Given the description of an element on the screen output the (x, y) to click on. 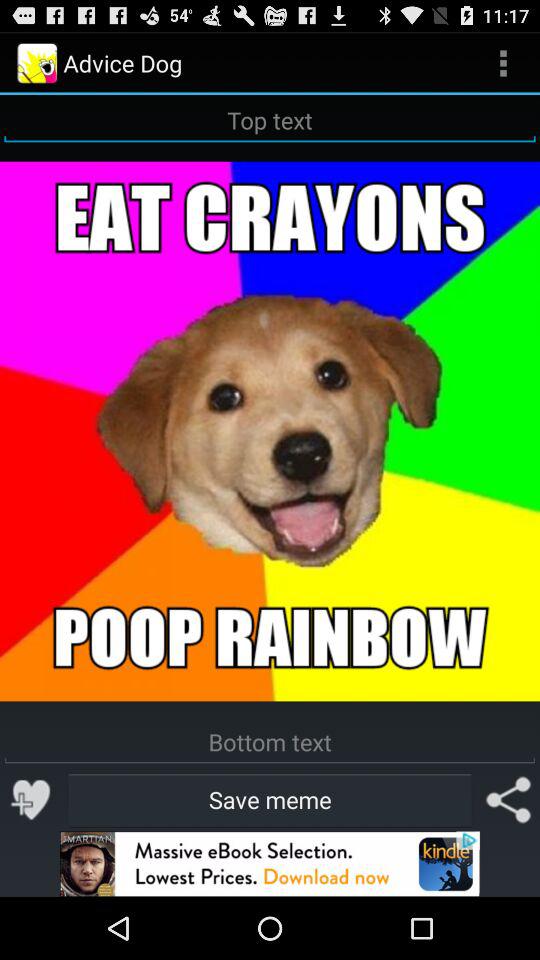
share link (508, 799)
